Given the description of an element on the screen output the (x, y) to click on. 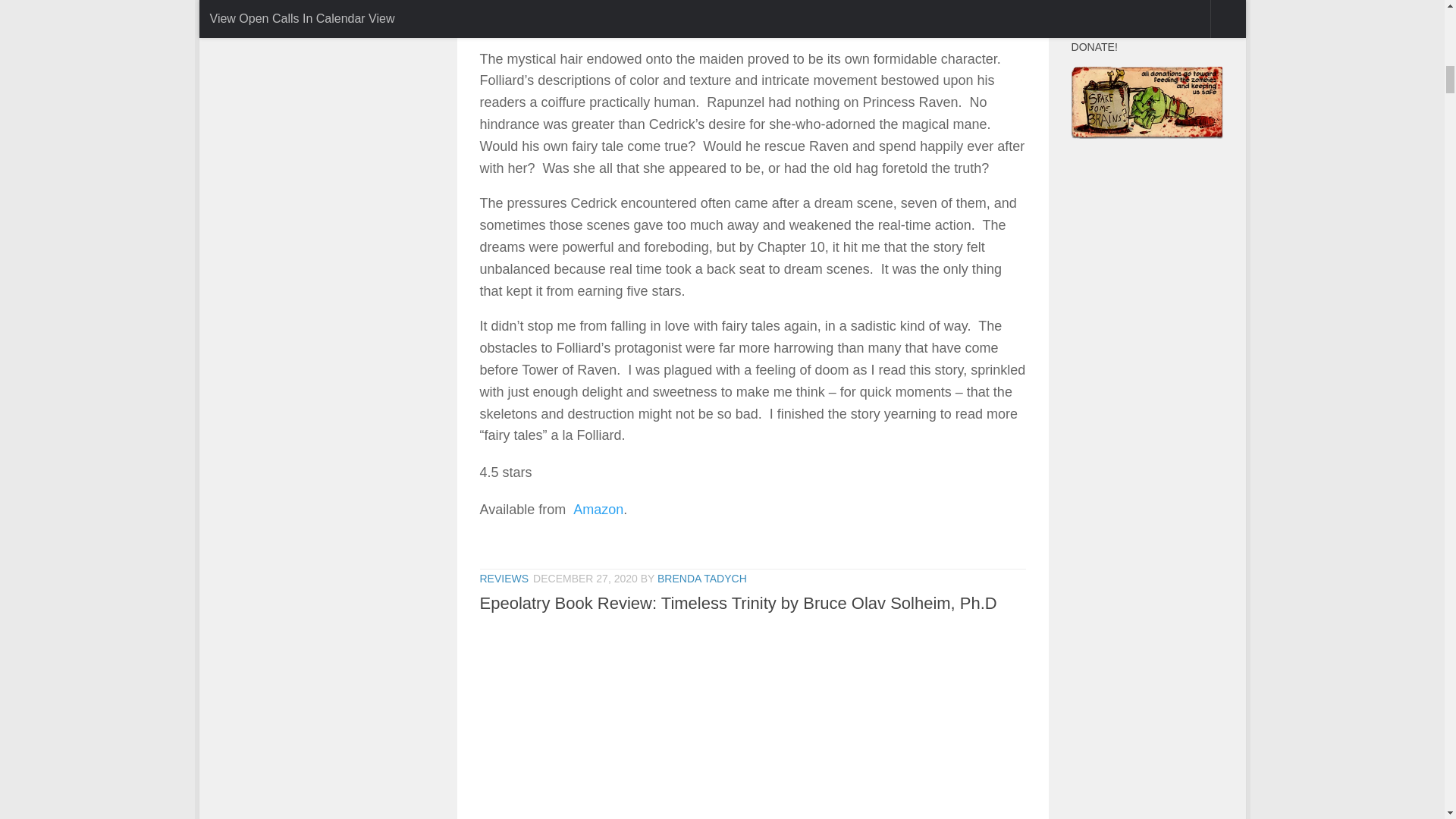
Epeolatry (752, 720)
Posts by Brenda Tadych (702, 578)
